Given the description of an element on the screen output the (x, y) to click on. 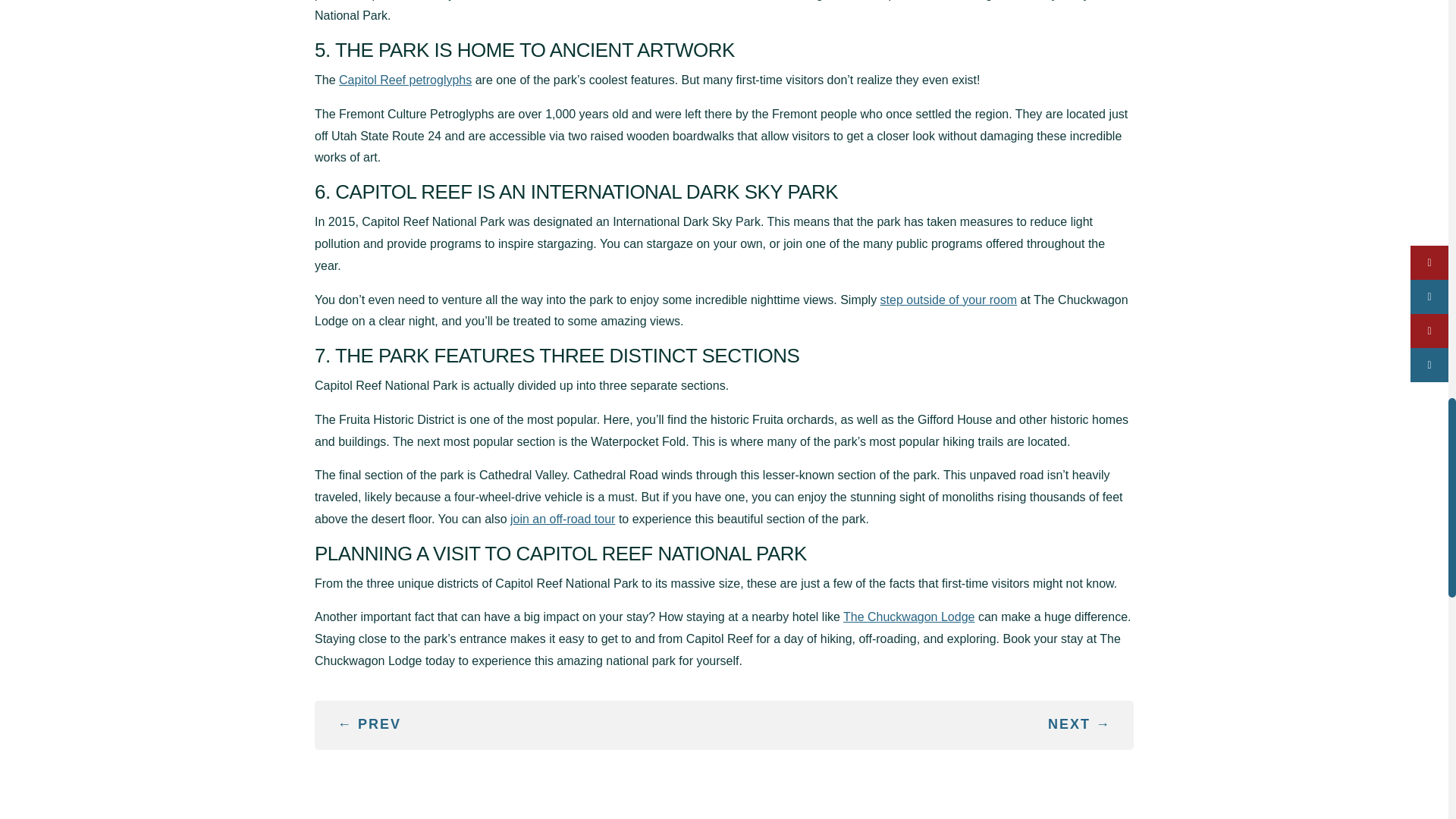
The Chuckwagon Lodge (908, 616)
Capitol Reef petroglyphs (405, 79)
join an off-road tour (562, 518)
step outside of your room (948, 299)
